Given the description of an element on the screen output the (x, y) to click on. 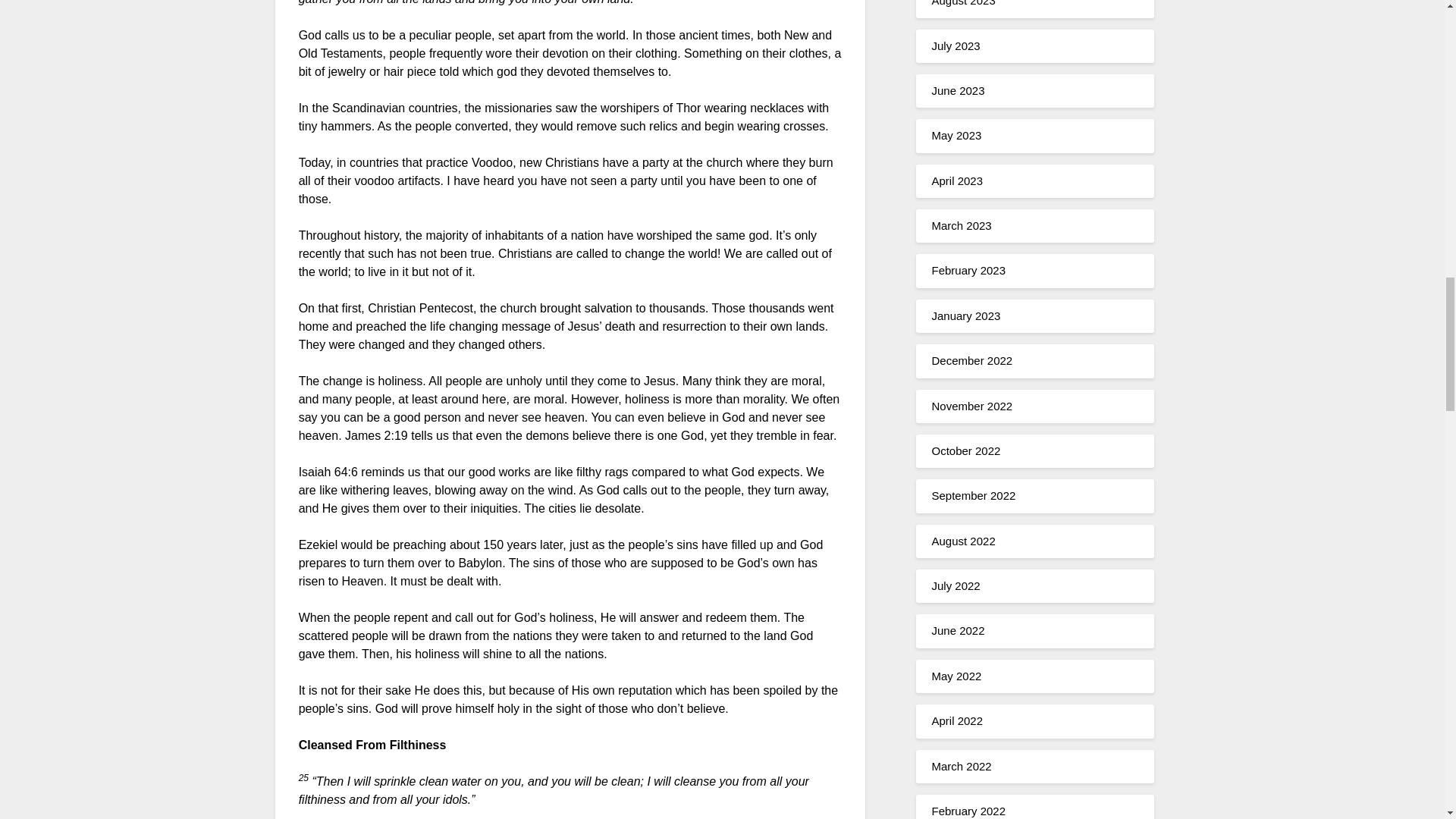
July 2023 (955, 45)
August 2023 (962, 3)
April 2023 (956, 180)
June 2023 (957, 90)
May 2023 (956, 134)
